Given the description of an element on the screen output the (x, y) to click on. 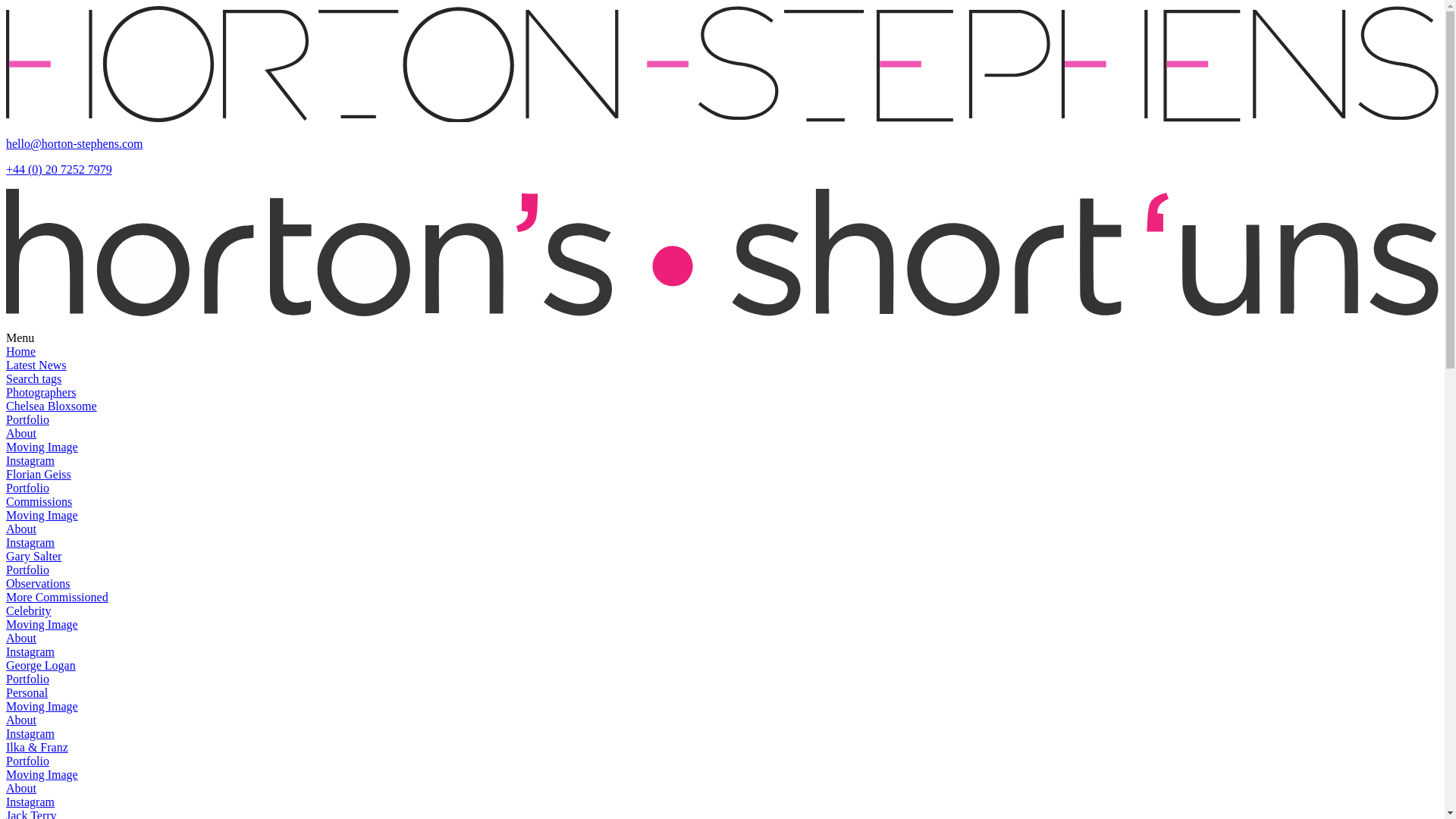
Celebrity (27, 610)
Moving Image (41, 446)
Moving Image (41, 514)
Instagram (30, 460)
Moving Image (41, 624)
Chelsea Bloxsome (51, 405)
About (20, 528)
Photographers (40, 391)
Florian Geiss (38, 473)
About (20, 719)
